Given the description of an element on the screen output the (x, y) to click on. 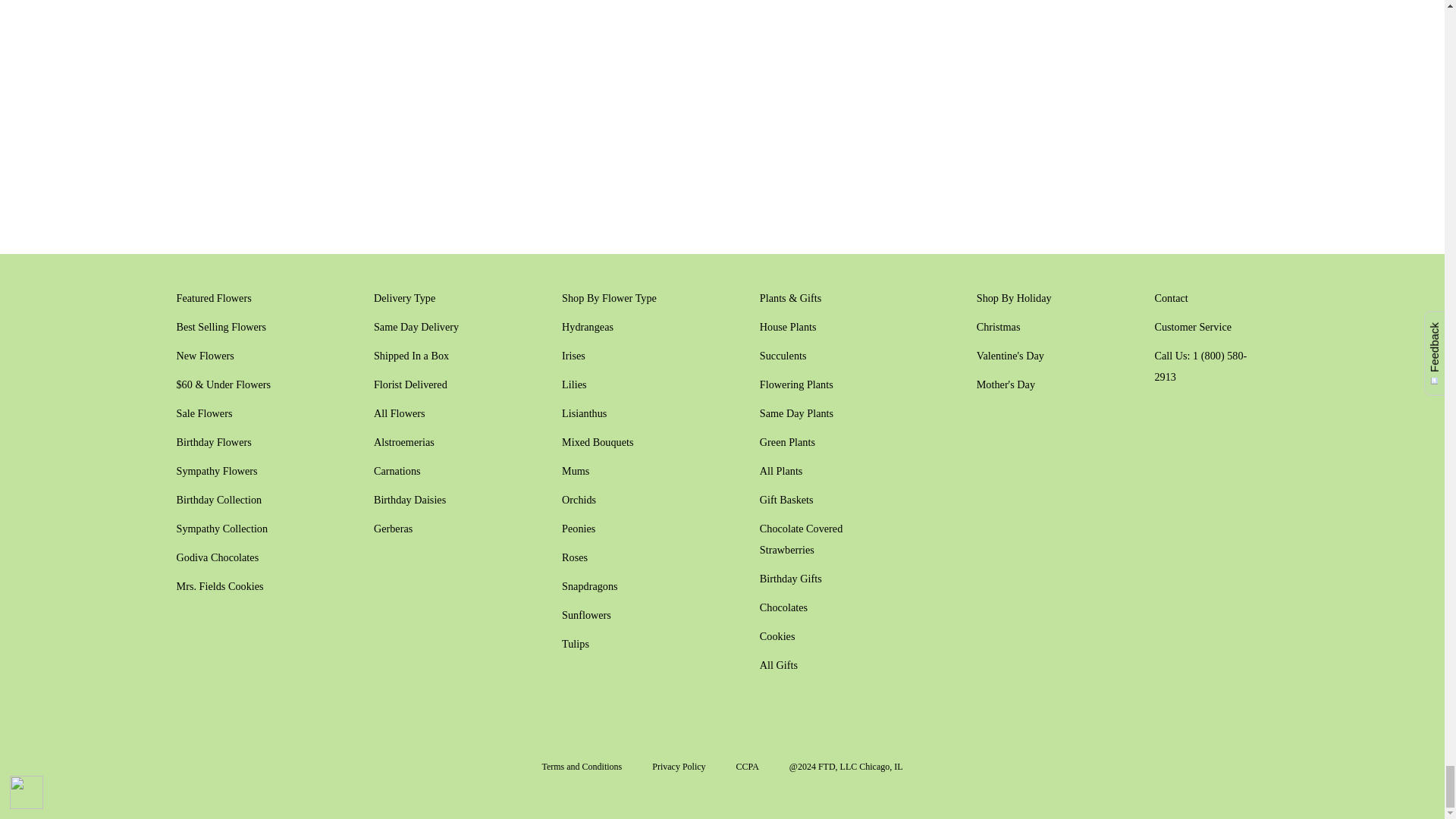
Sale Flowers (203, 413)
New Flowers (204, 355)
Sympathy Flowers (216, 470)
Best Selling Flowers (221, 326)
Birthday Flowers (213, 441)
